Given the description of an element on the screen output the (x, y) to click on. 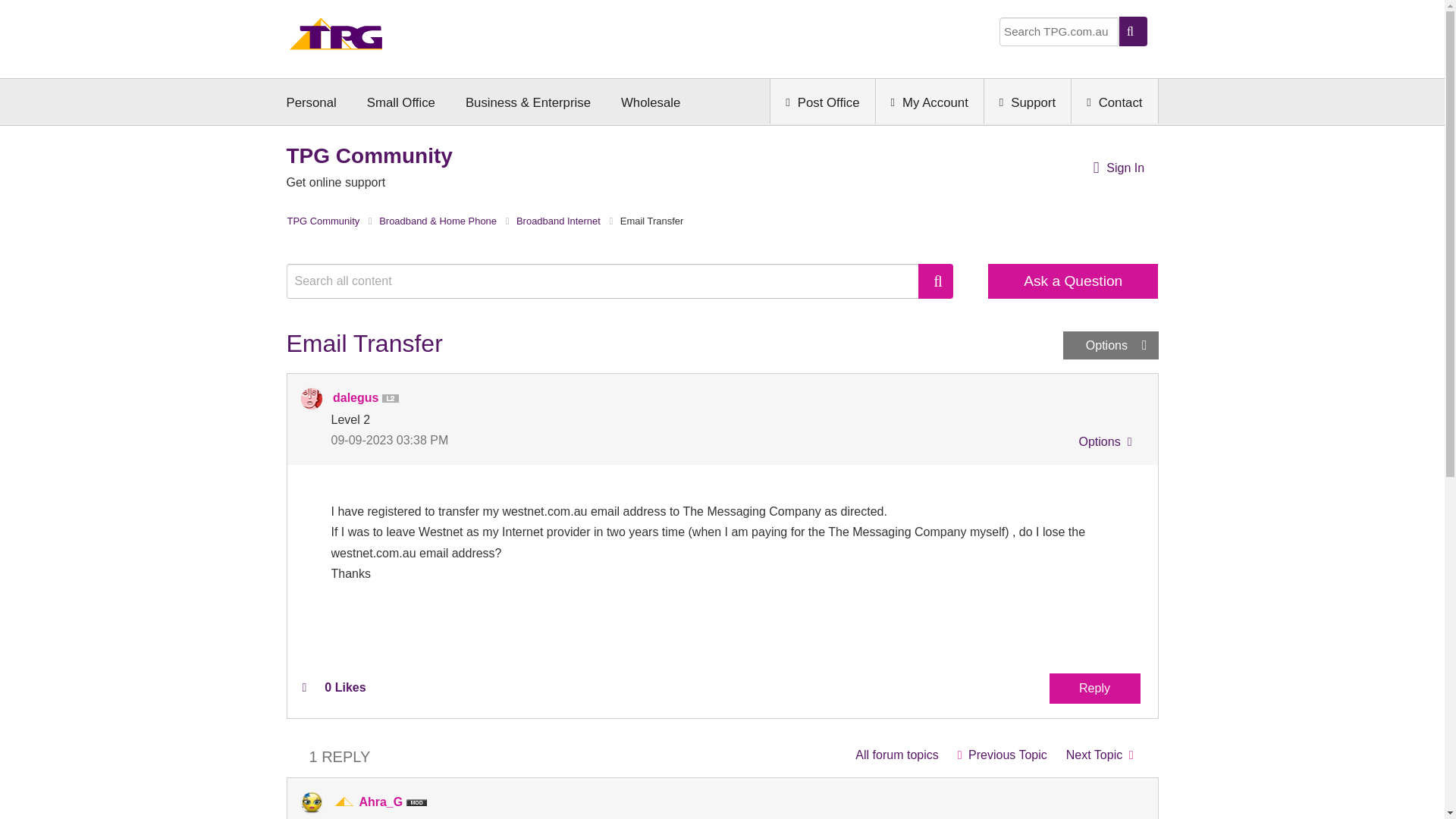
Posted on (526, 439)
My 5G internet is not activated (1099, 754)
Search (610, 280)
Moderator (344, 802)
Show option menu (1103, 443)
Level 2 (392, 398)
Search (935, 280)
Home (335, 38)
The total number of kudos this post has received. (344, 687)
Broadband Internet (896, 754)
Search (935, 280)
Show option menu (1110, 345)
